Given the description of an element on the screen output the (x, y) to click on. 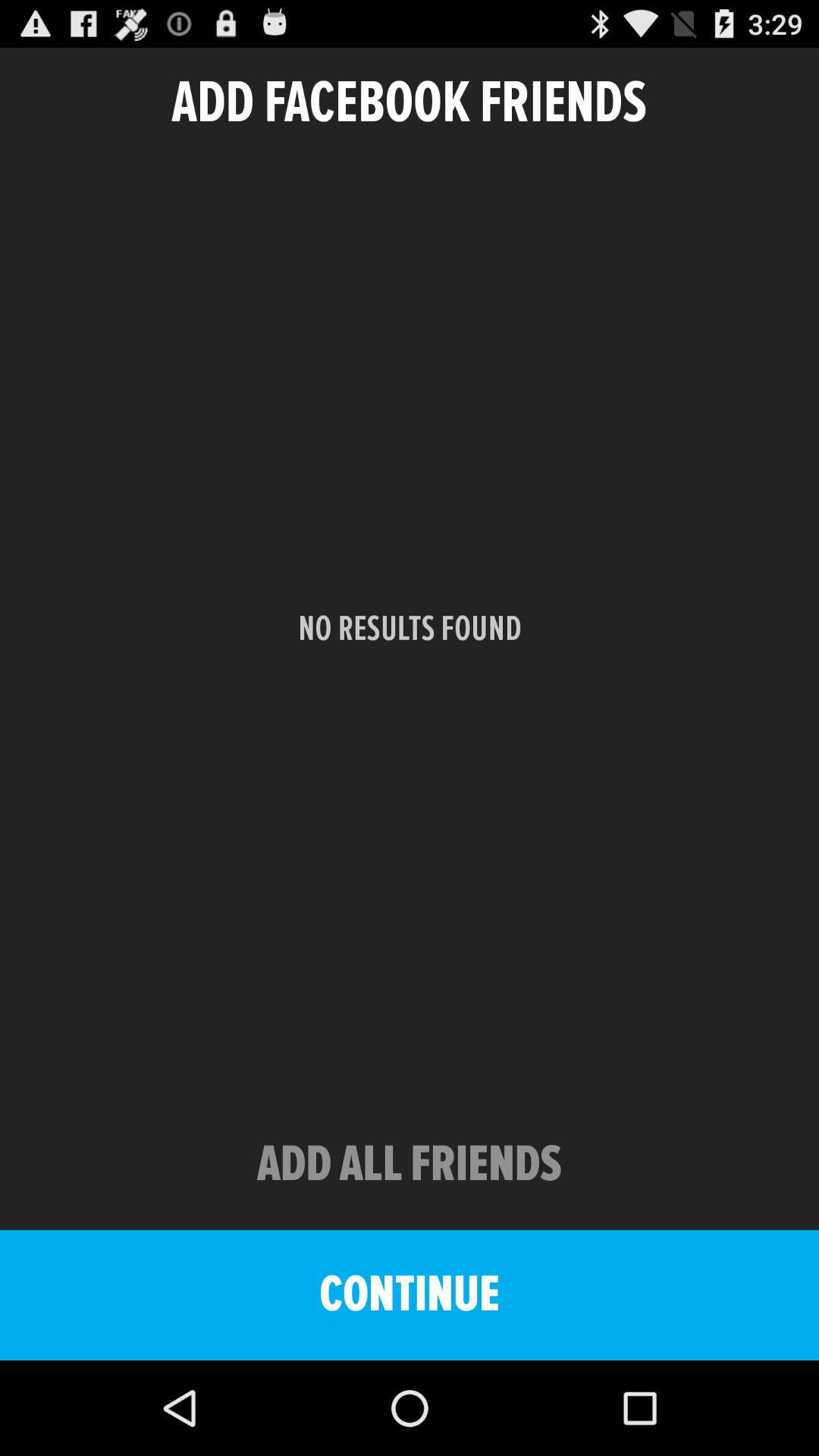
choose icon below the add all friends (409, 1295)
